Given the description of an element on the screen output the (x, y) to click on. 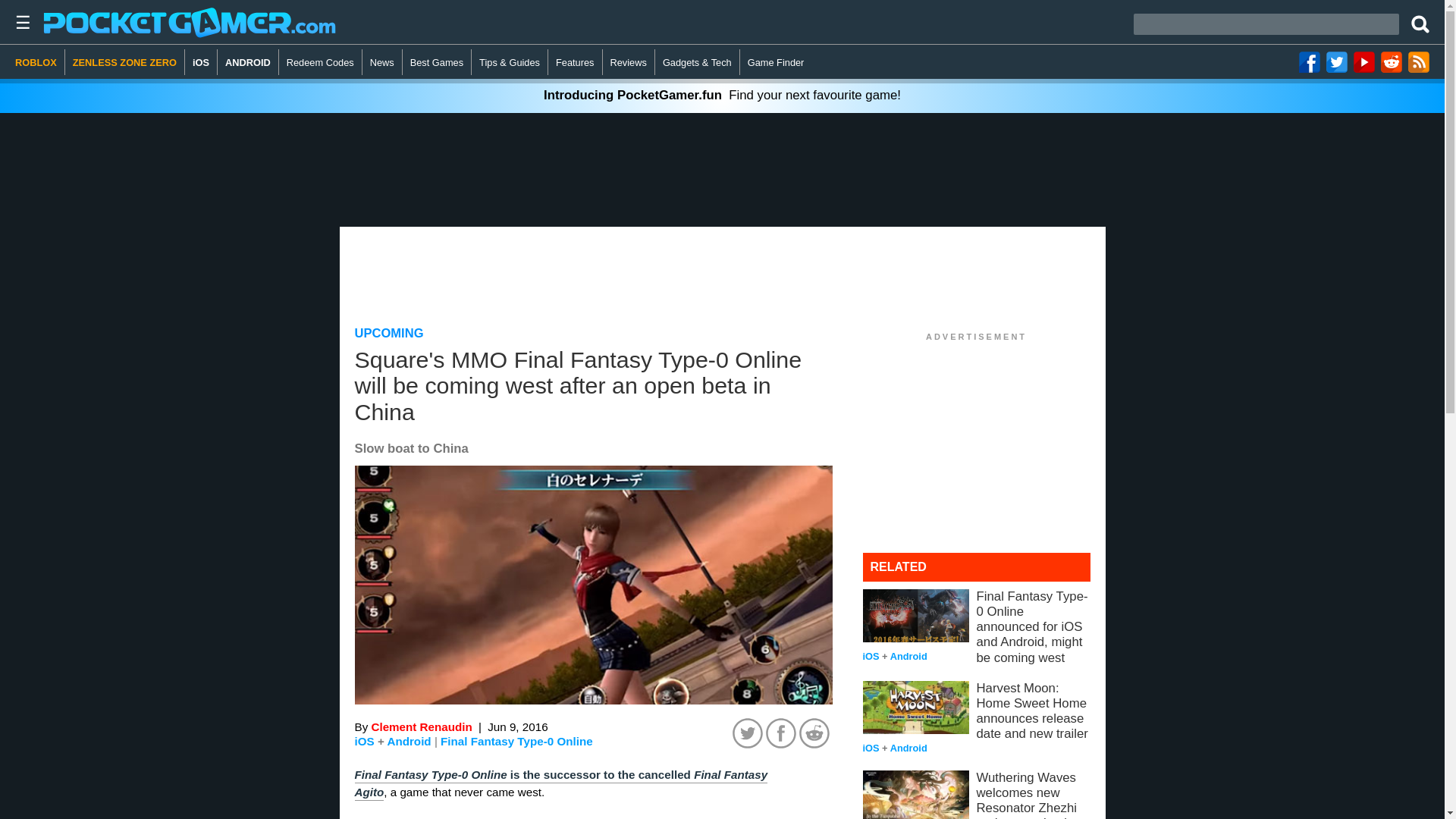
Final Fantasy Type-0 Online (516, 741)
Redeem Codes (320, 62)
ANDROID (247, 62)
Reviews (628, 62)
Android (408, 740)
Game Finder (775, 62)
Features (575, 62)
iOS (364, 740)
iOS (200, 62)
UPCOMING (389, 332)
